Given the description of an element on the screen output the (x, y) to click on. 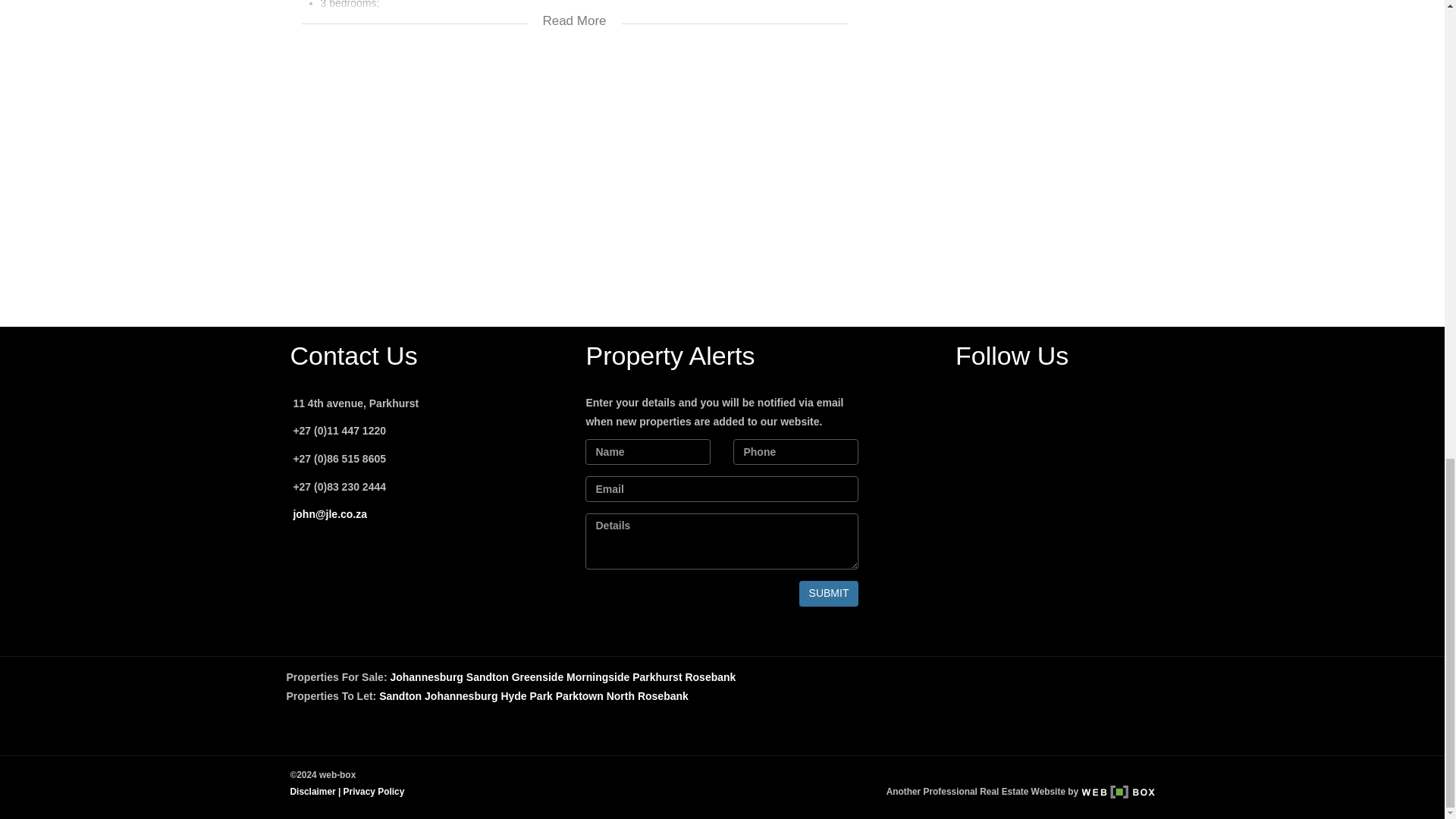
Properties for sale in Johannesburg (426, 676)
google map (574, 174)
Properties for sale in Parkhurst, Johannesburg (656, 676)
Properties for sale in Morningside, Sandton (597, 676)
Properties for sale in Sandton (486, 676)
Read More (574, 22)
Properties for sale in Greenside, Johannesburg (537, 676)
Read More (574, 22)
